Given the description of an element on the screen output the (x, y) to click on. 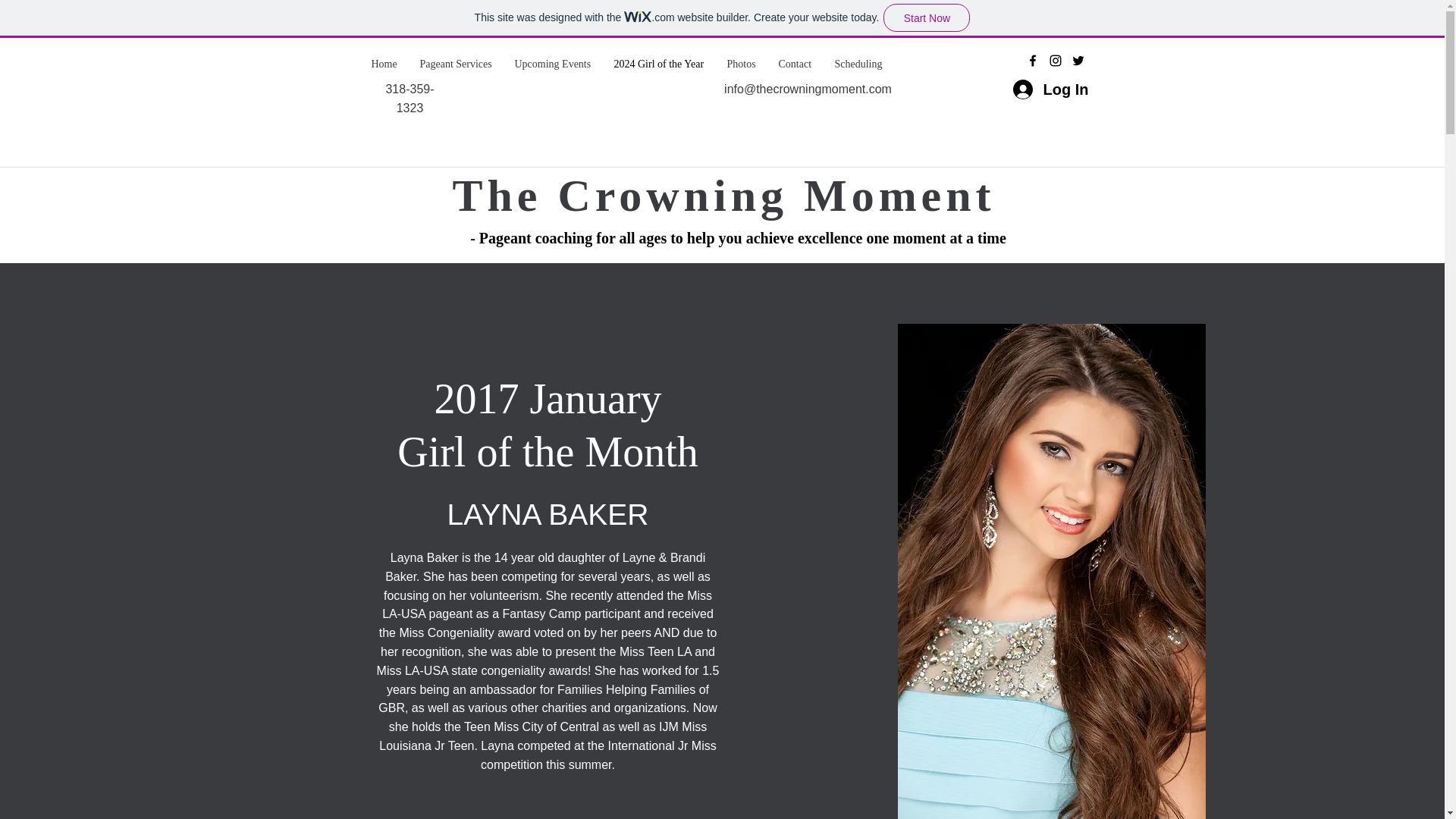
2024 Girl of the Year (658, 64)
Photos (741, 64)
Log In (1048, 89)
Scheduling (858, 64)
Upcoming Events (552, 64)
Contact (795, 64)
Home (383, 64)
Pageant Services (454, 64)
